Given the description of an element on the screen output the (x, y) to click on. 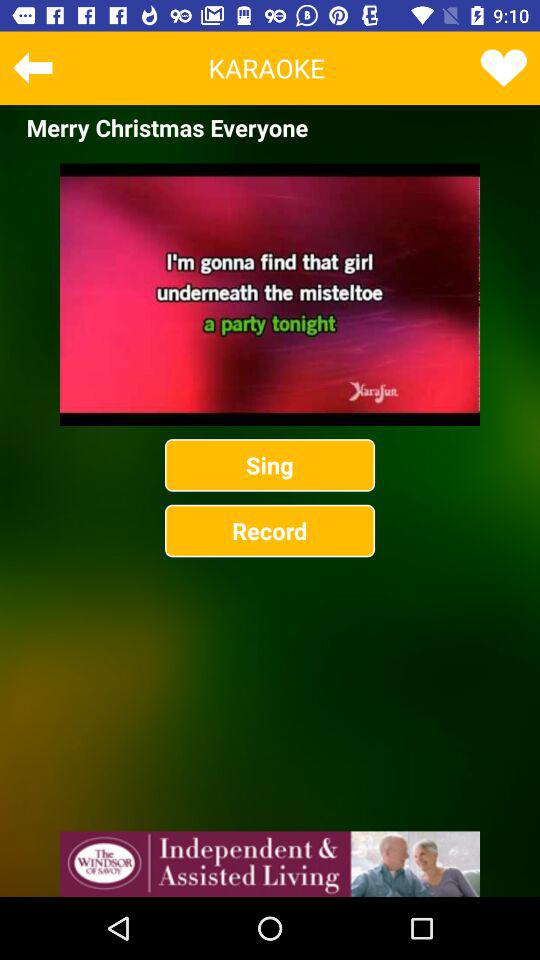
go to add button (270, 864)
